Given the description of an element on the screen output the (x, y) to click on. 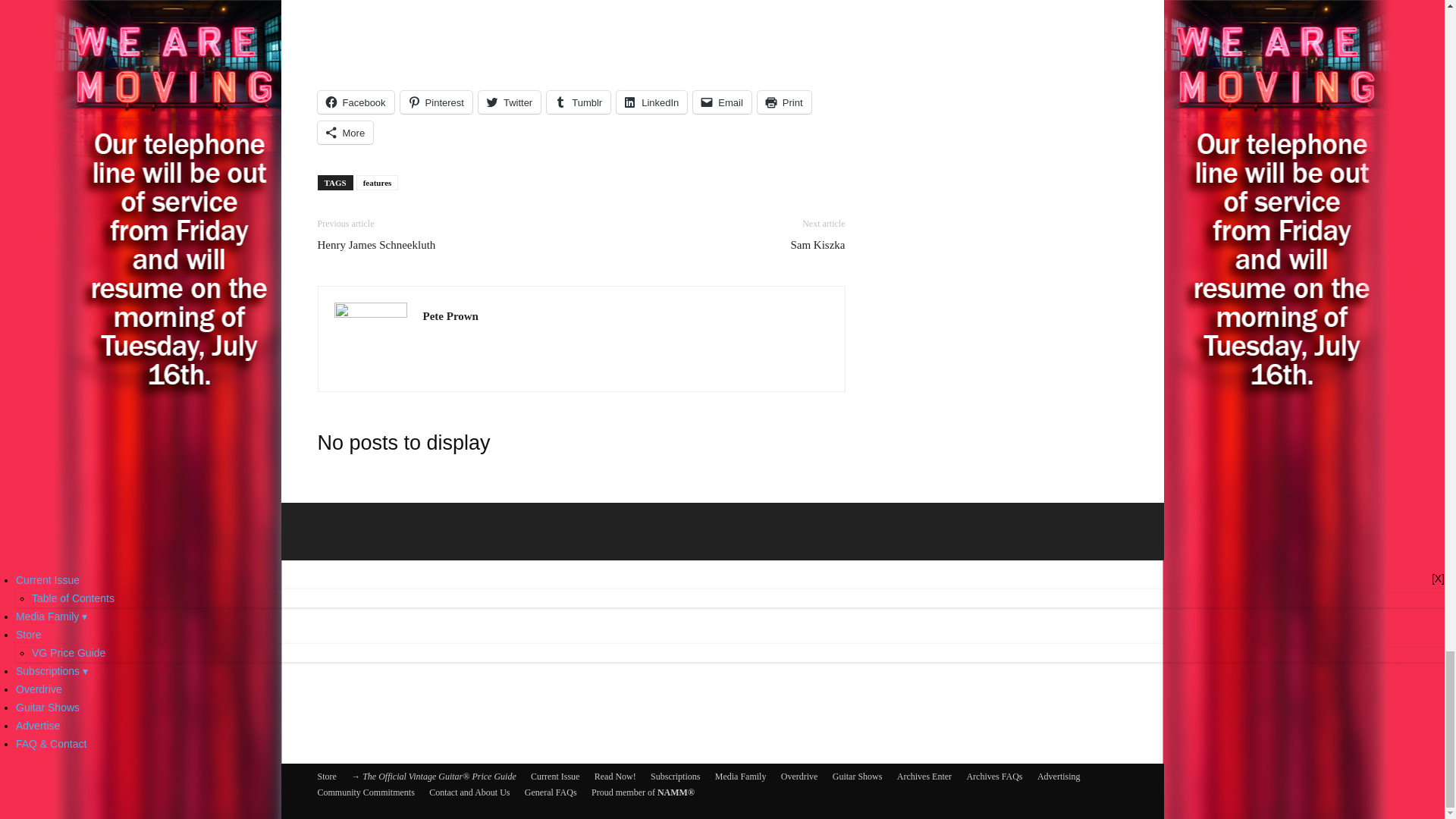
YouTube video player (580, 32)
